Given the description of an element on the screen output the (x, y) to click on. 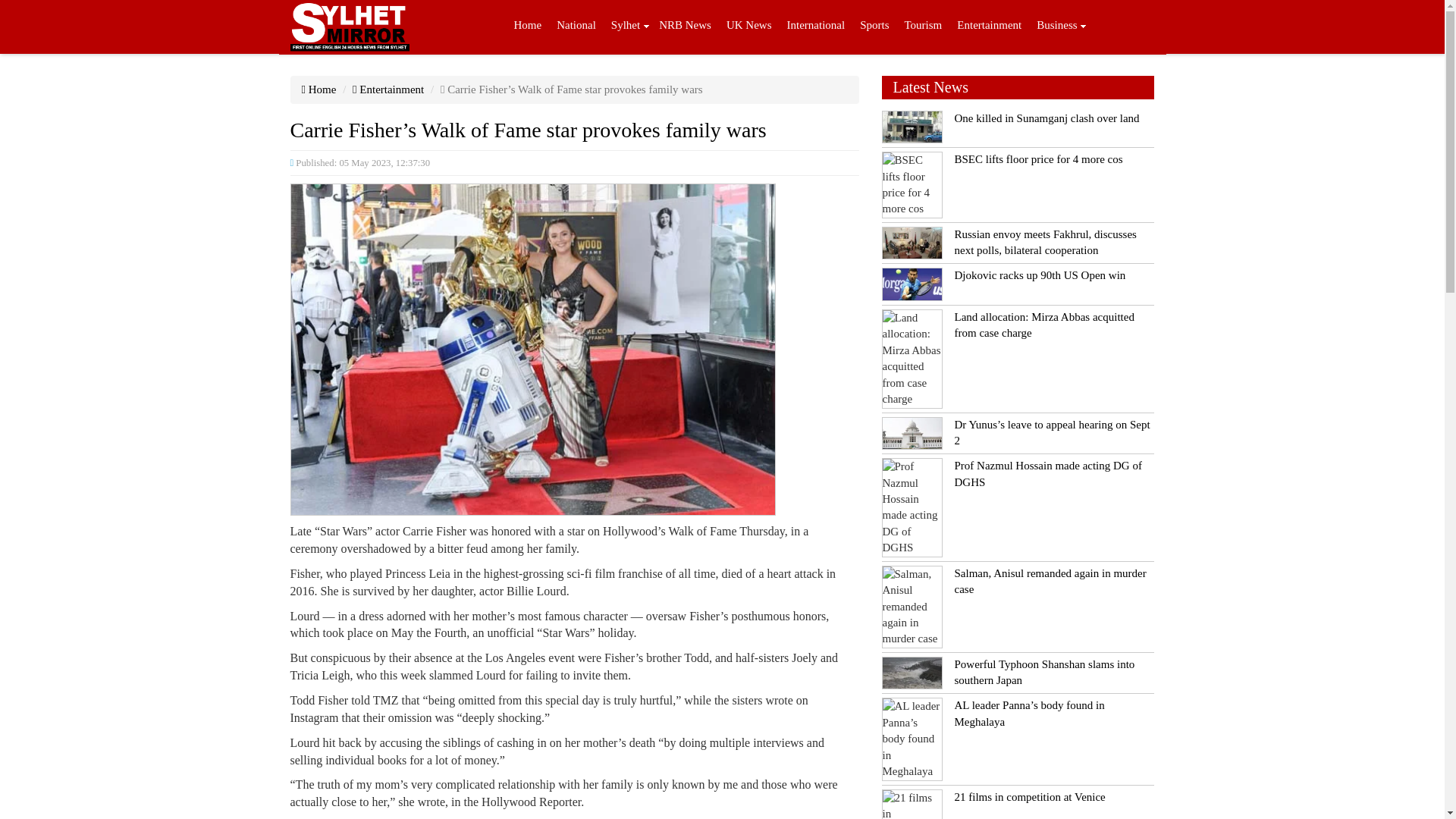
National (576, 26)
UK News (748, 26)
Tourism (922, 26)
NRB News (684, 26)
logo (349, 27)
Business (1056, 26)
International (815, 26)
Entertainment (989, 26)
